Given the description of an element on the screen output the (x, y) to click on. 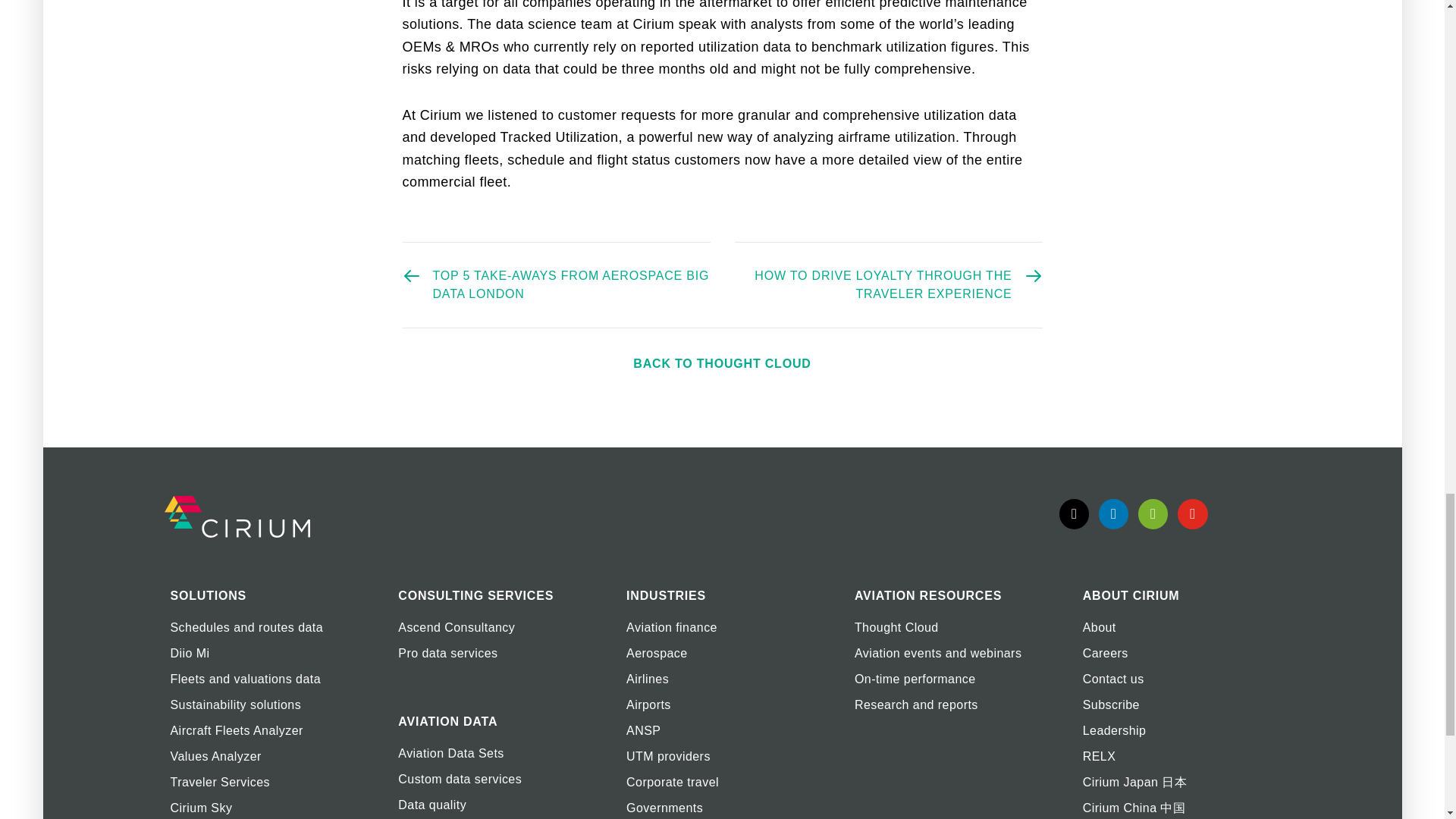
LinkedIn (1113, 512)
WeChat (1152, 512)
YouTube (1192, 512)
X (1074, 512)
